Given the description of an element on the screen output the (x, y) to click on. 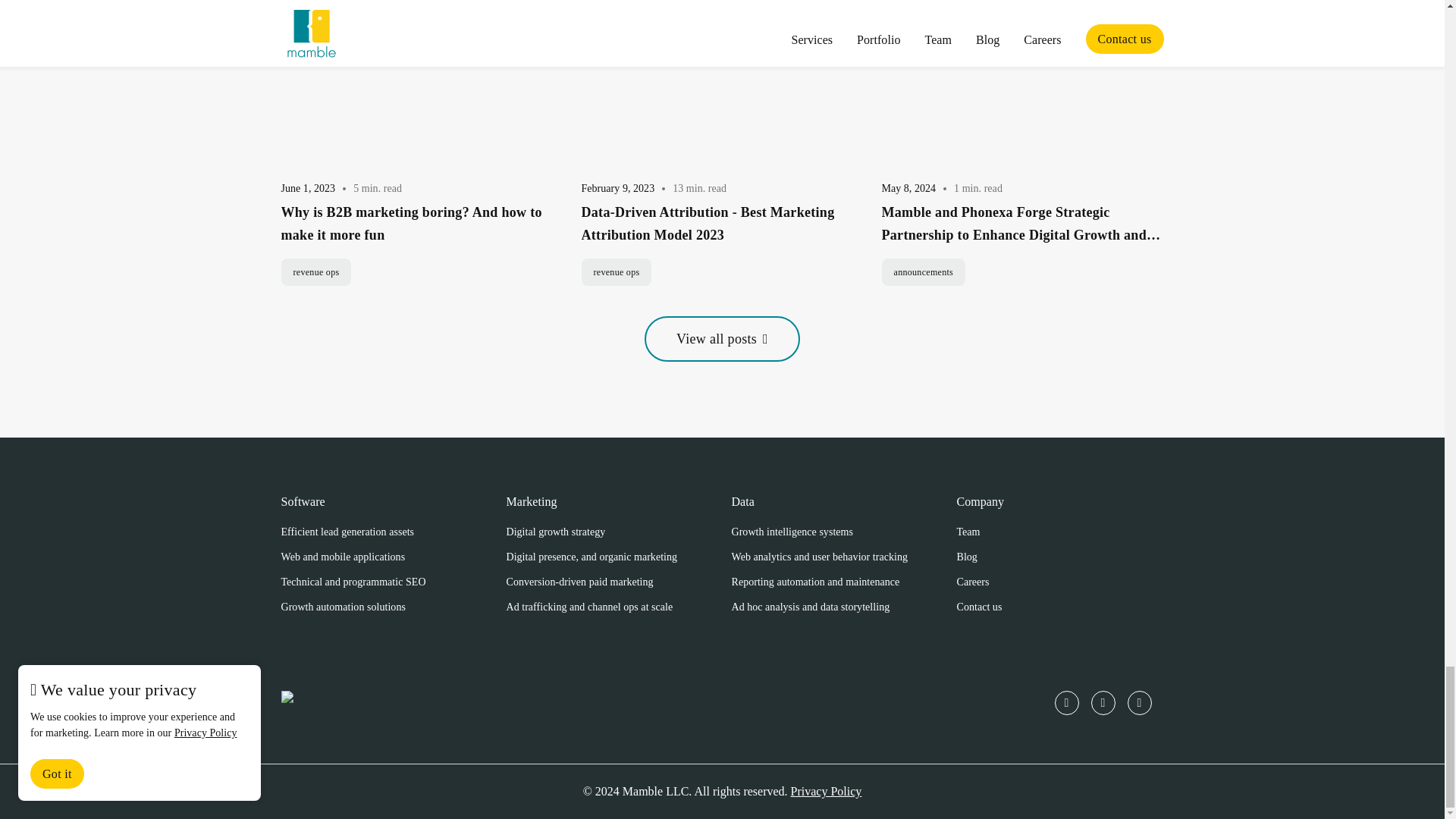
Growth automation solutions (342, 606)
View all posts (722, 338)
announcements (922, 271)
Reporting automation and maintenance (814, 582)
Conversion-driven paid marketing (579, 582)
Ad trafficking and channel ops at scale (589, 606)
Web and mobile applications (342, 556)
Digital growth strategy (555, 531)
Technical and programmatic SEO (353, 582)
revenue ops (315, 271)
revenue ops (615, 271)
Ad hoc analysis and data storytelling (809, 606)
Web analytics and user behavior tracking (818, 556)
